Given the description of an element on the screen output the (x, y) to click on. 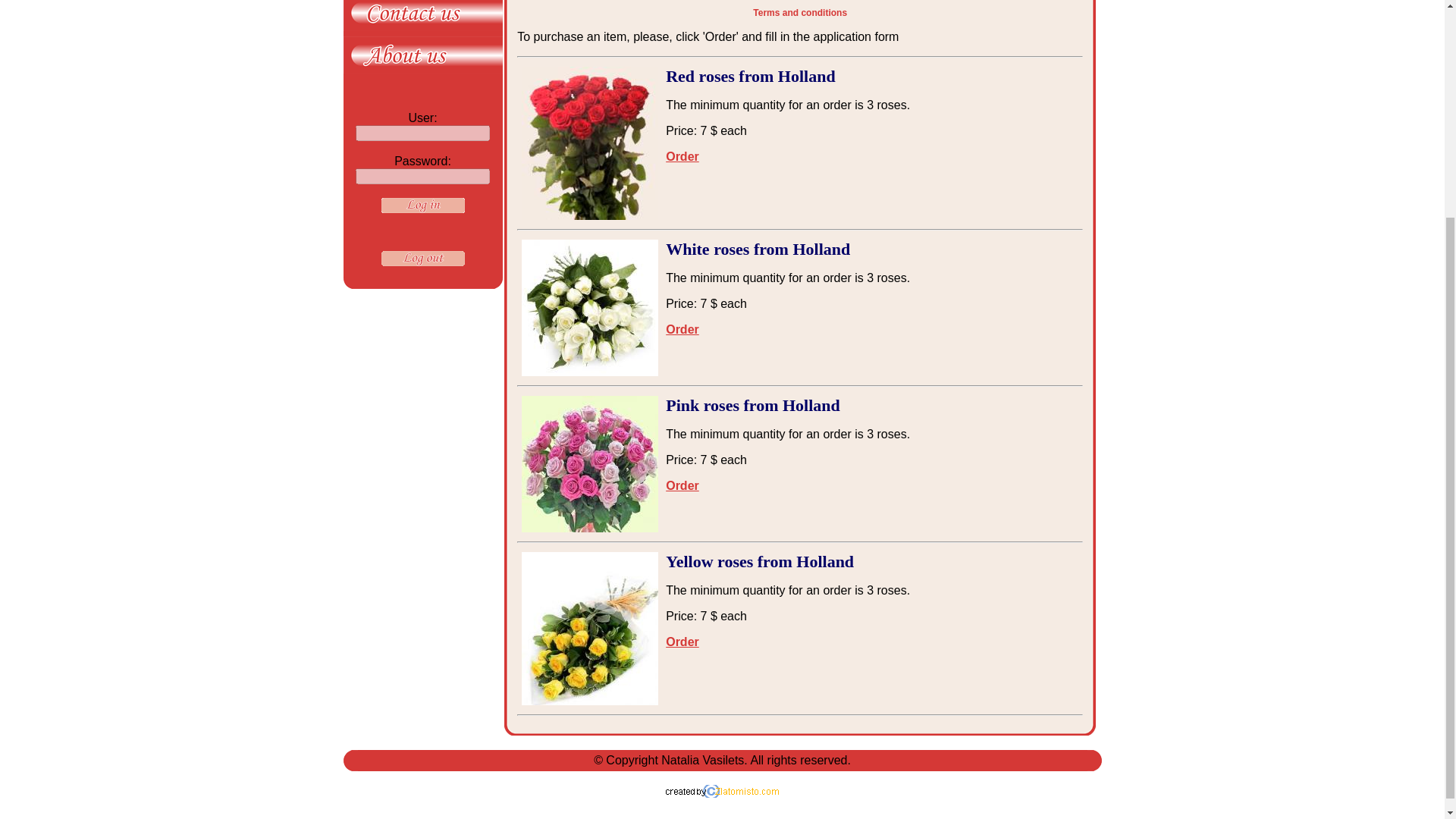
Order (681, 485)
Order (681, 641)
Terms and conditions (799, 12)
Submit (422, 205)
Order (681, 328)
Order (681, 155)
